Given the description of an element on the screen output the (x, y) to click on. 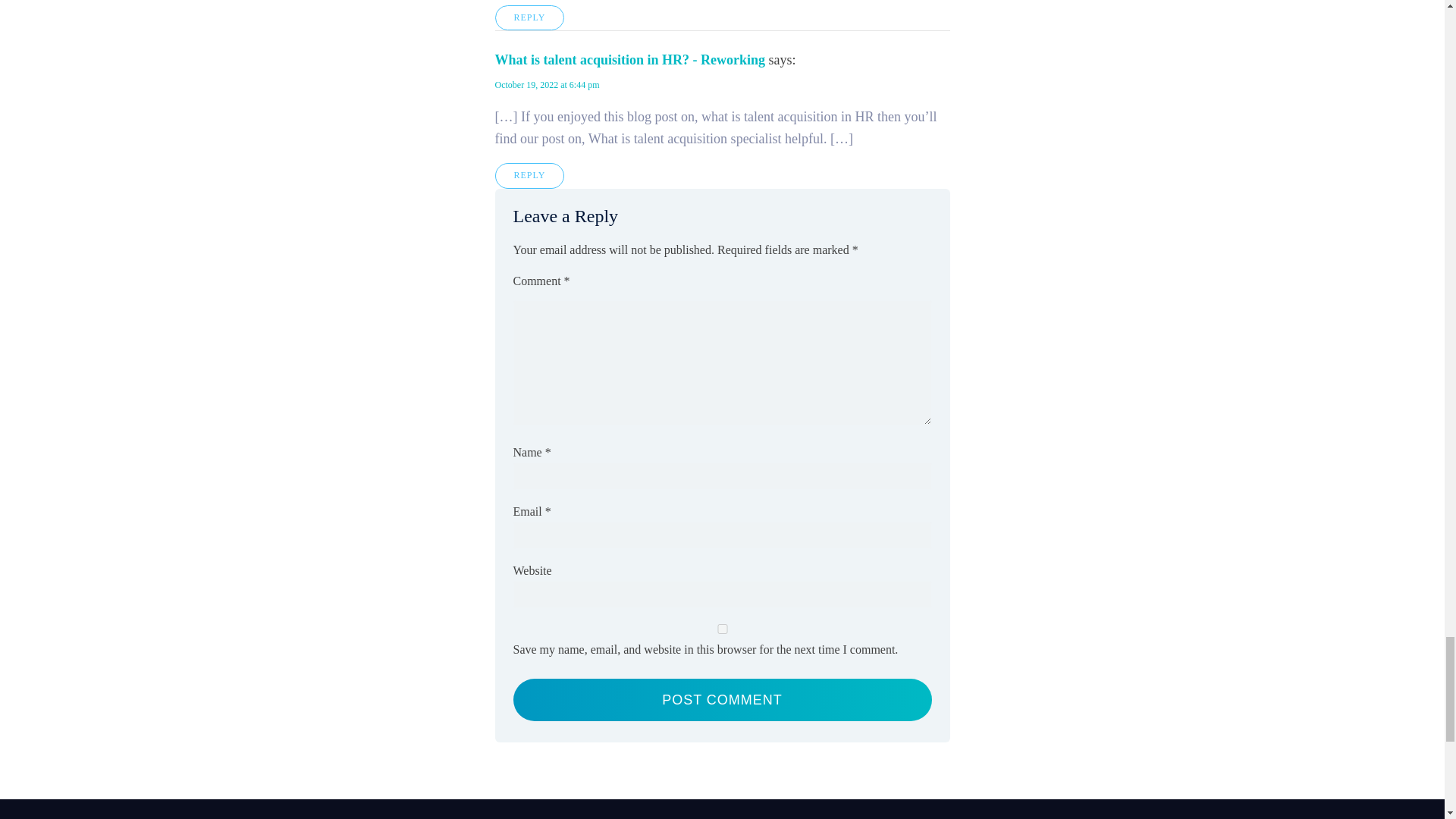
Post Comment (721, 699)
REPLY (529, 175)
yes (721, 628)
REPLY (529, 17)
What is talent acquisition in HR? - Reworking (630, 59)
Post Comment (721, 699)
October 19, 2022 at 6:44 pm (546, 84)
